Given the description of an element on the screen output the (x, y) to click on. 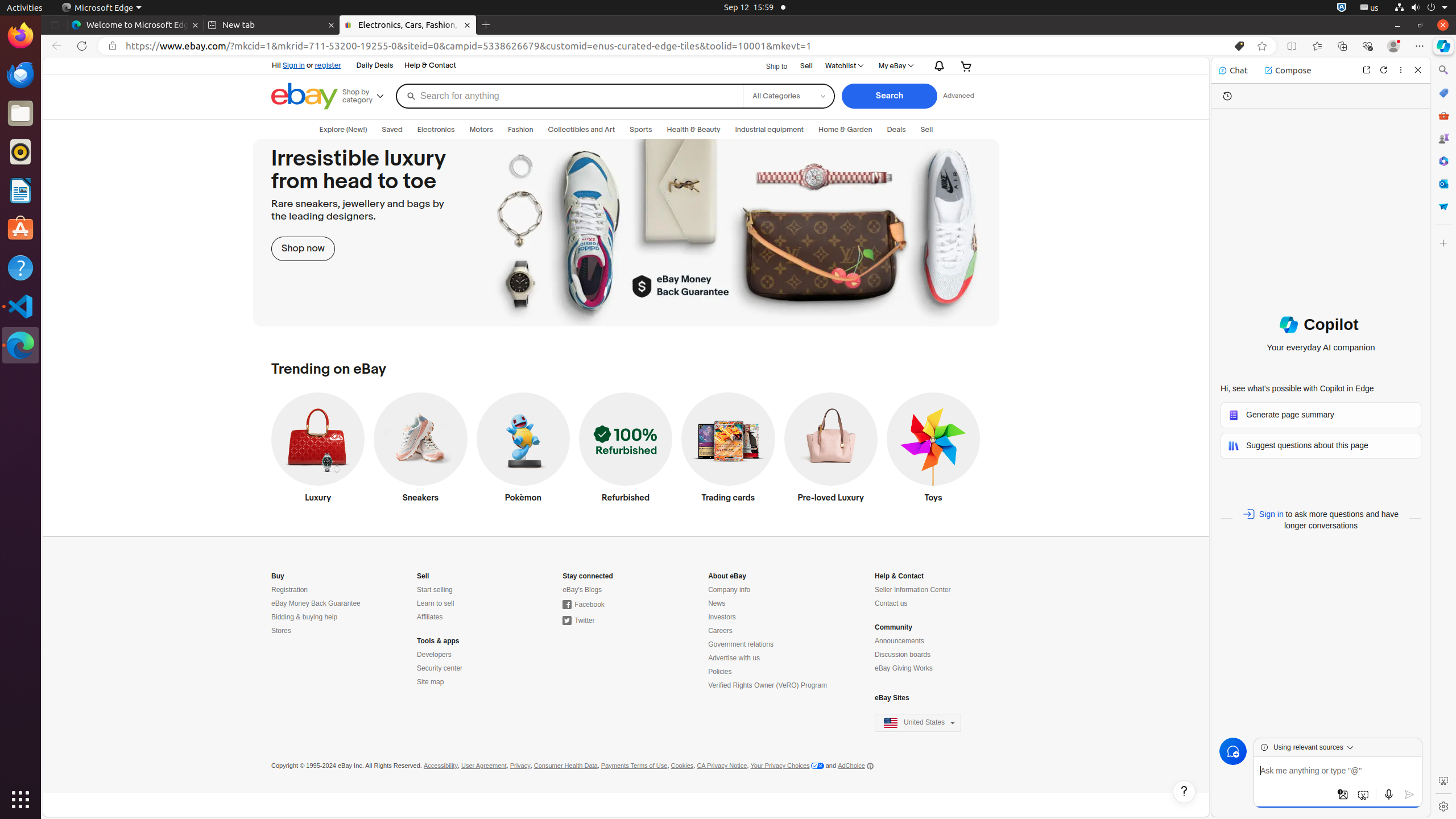
Learn to sell Element type: link (435, 603)
Suggest questions about this page Element type: radio-button (1320, 445)
Collectibles and Art Element type: link (581, 129)
Trading cards Element type: link (728, 450)
Screenshot Element type: push-button (1443, 780)
